Given the description of an element on the screen output the (x, y) to click on. 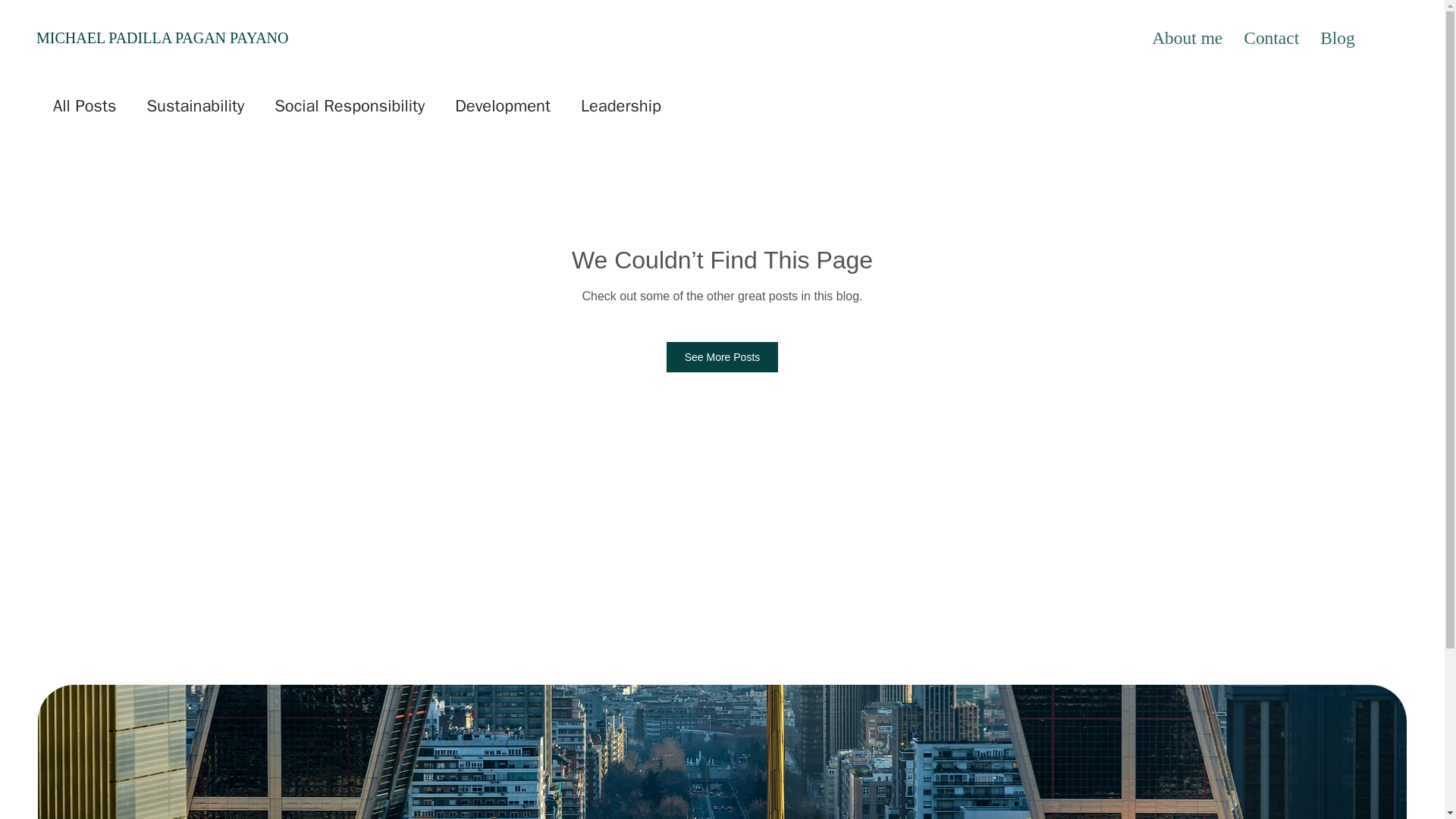
Contact (1271, 38)
See More Posts (722, 357)
Sustainability (195, 106)
Social Responsibility (350, 106)
All Posts (84, 106)
Development (502, 106)
Blog (1337, 38)
About me (1187, 38)
Leadership (620, 106)
